Given the description of an element on the screen output the (x, y) to click on. 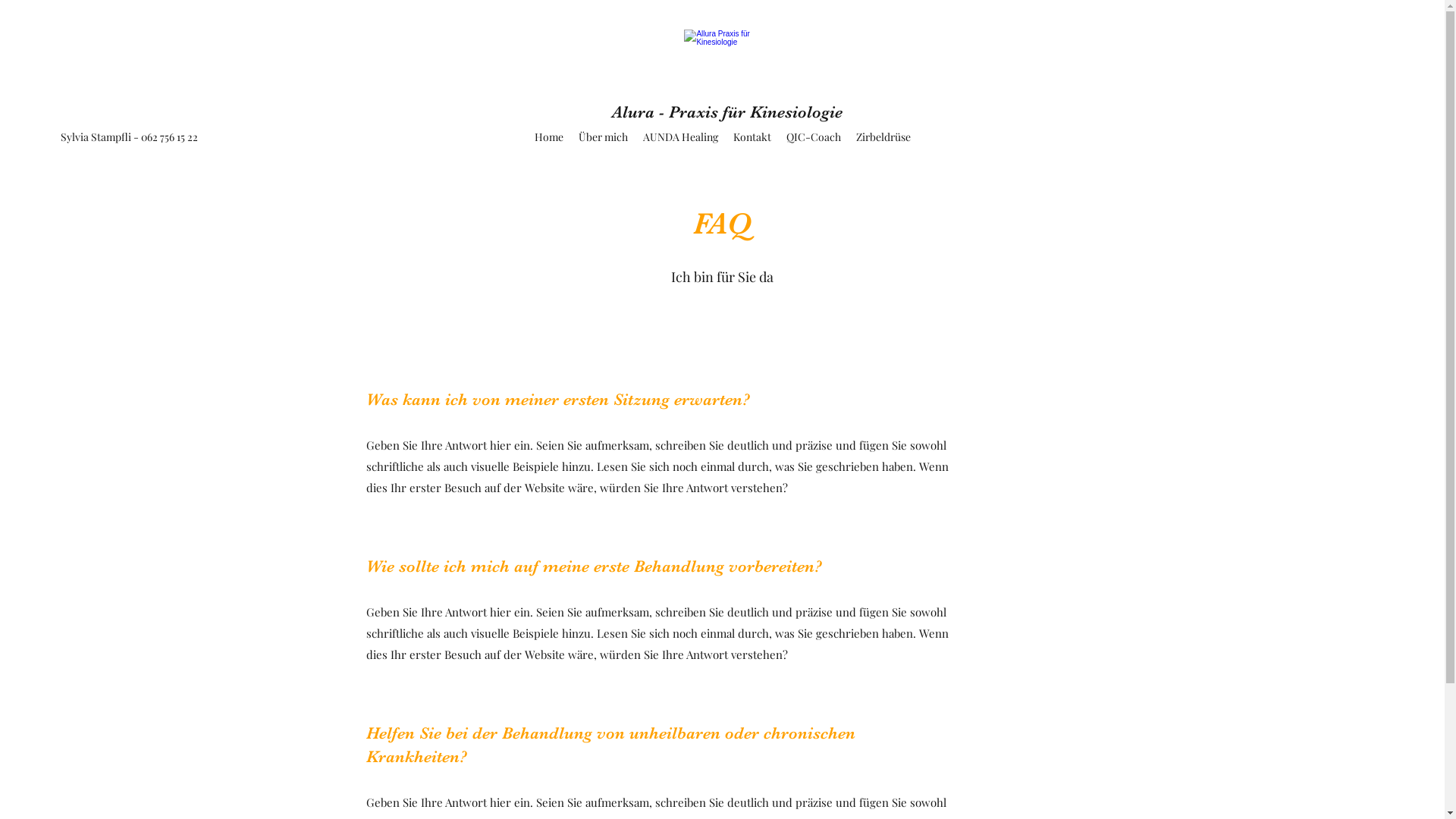
AUNDA Healing Element type: text (680, 136)
QIC-Coach Element type: text (812, 136)
Kontakt Element type: text (751, 136)
Home Element type: text (548, 136)
